Given the description of an element on the screen output the (x, y) to click on. 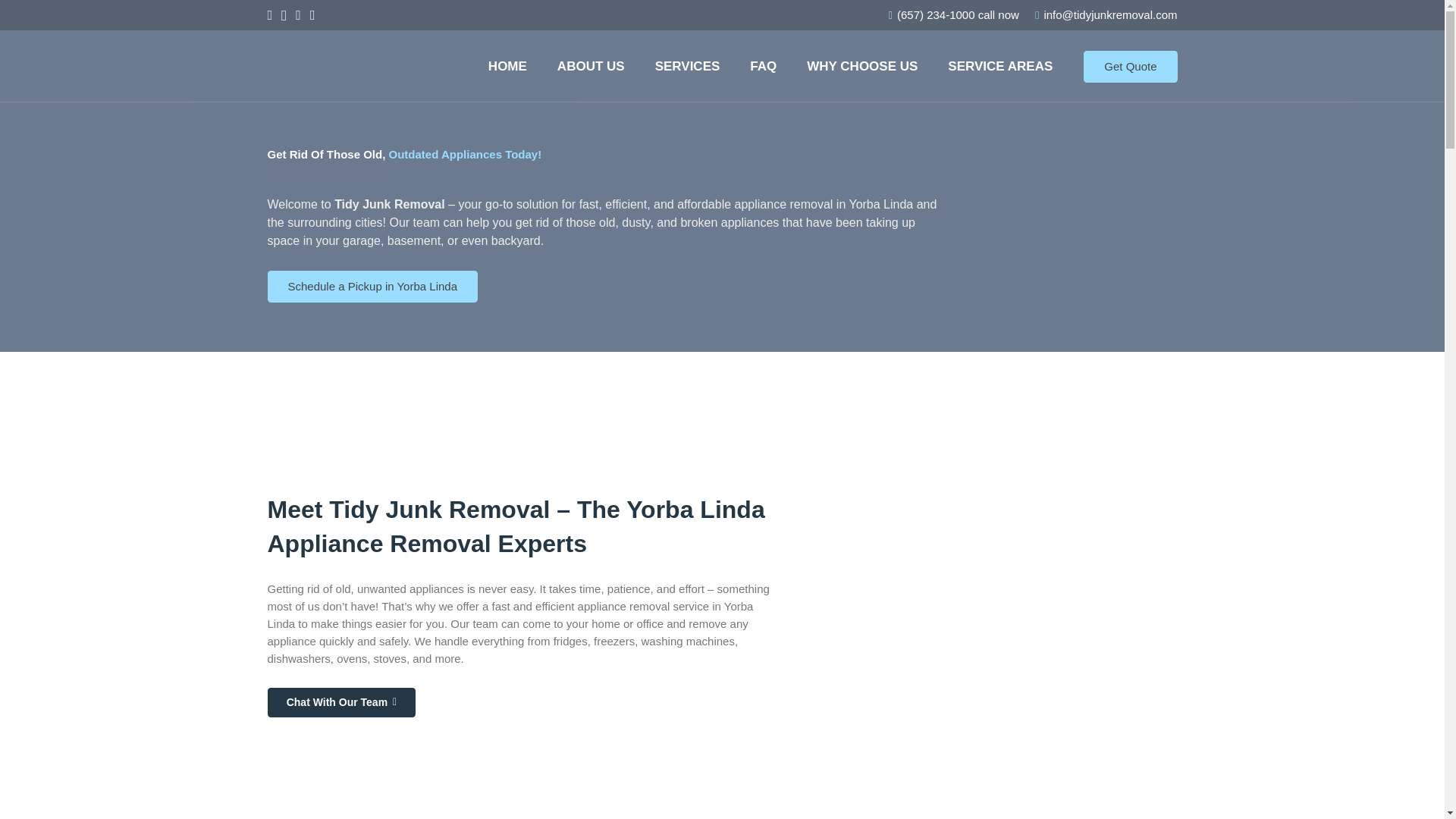
ABOUT US (590, 66)
HOME (507, 66)
SERVICES (687, 66)
Contact Us (371, 286)
WHY CHOOSE US (862, 66)
SERVICE AREAS (1000, 66)
